Given the description of an element on the screen output the (x, y) to click on. 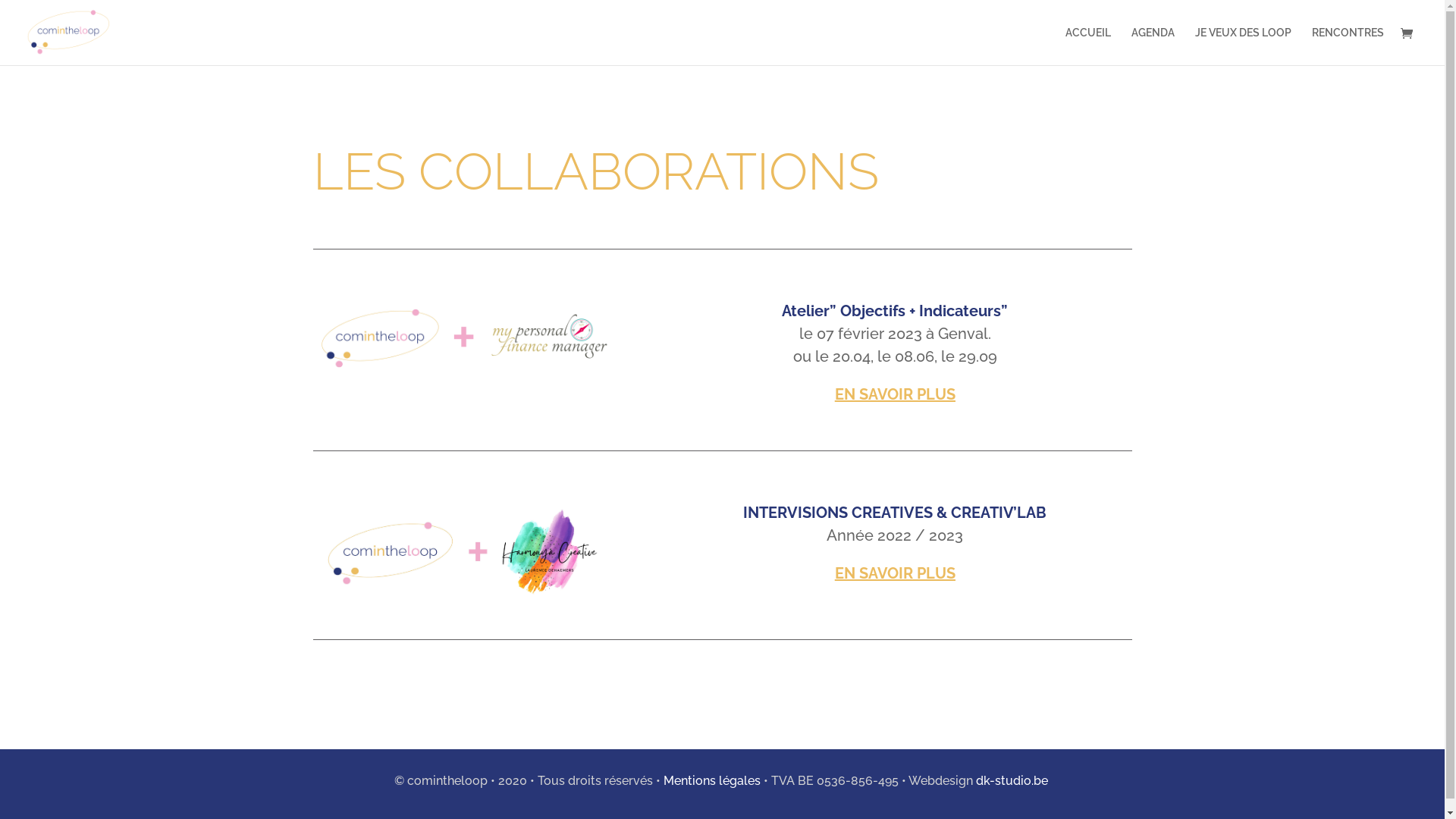
RENCONTRES Element type: text (1347, 46)
AGENDA Element type: text (1152, 46)
ACCUEIL Element type: text (1087, 46)
EN SAVOIR PLUS Element type: text (894, 394)
EN SAVOIR PLUS Element type: text (894, 573)
JE VEUX DES LOOP Element type: text (1243, 46)
dk-studio.be Element type: text (1011, 780)
Cil-+-Harmonya Element type: hover (462, 550)
Cil-+-MPFM Element type: hover (462, 337)
